Given the description of an element on the screen output the (x, y) to click on. 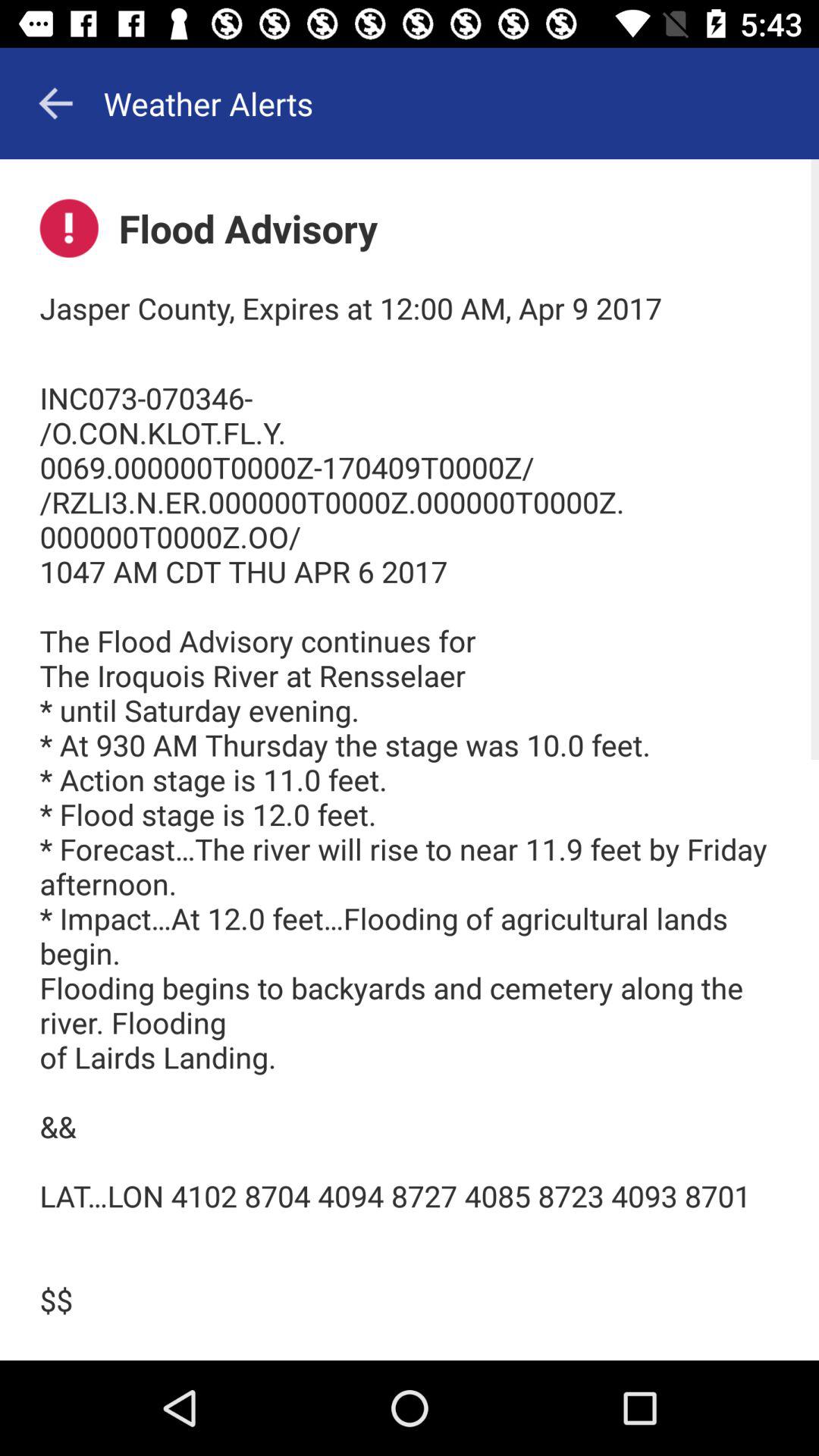
turn off app to the left of the weather alerts app (55, 103)
